Given the description of an element on the screen output the (x, y) to click on. 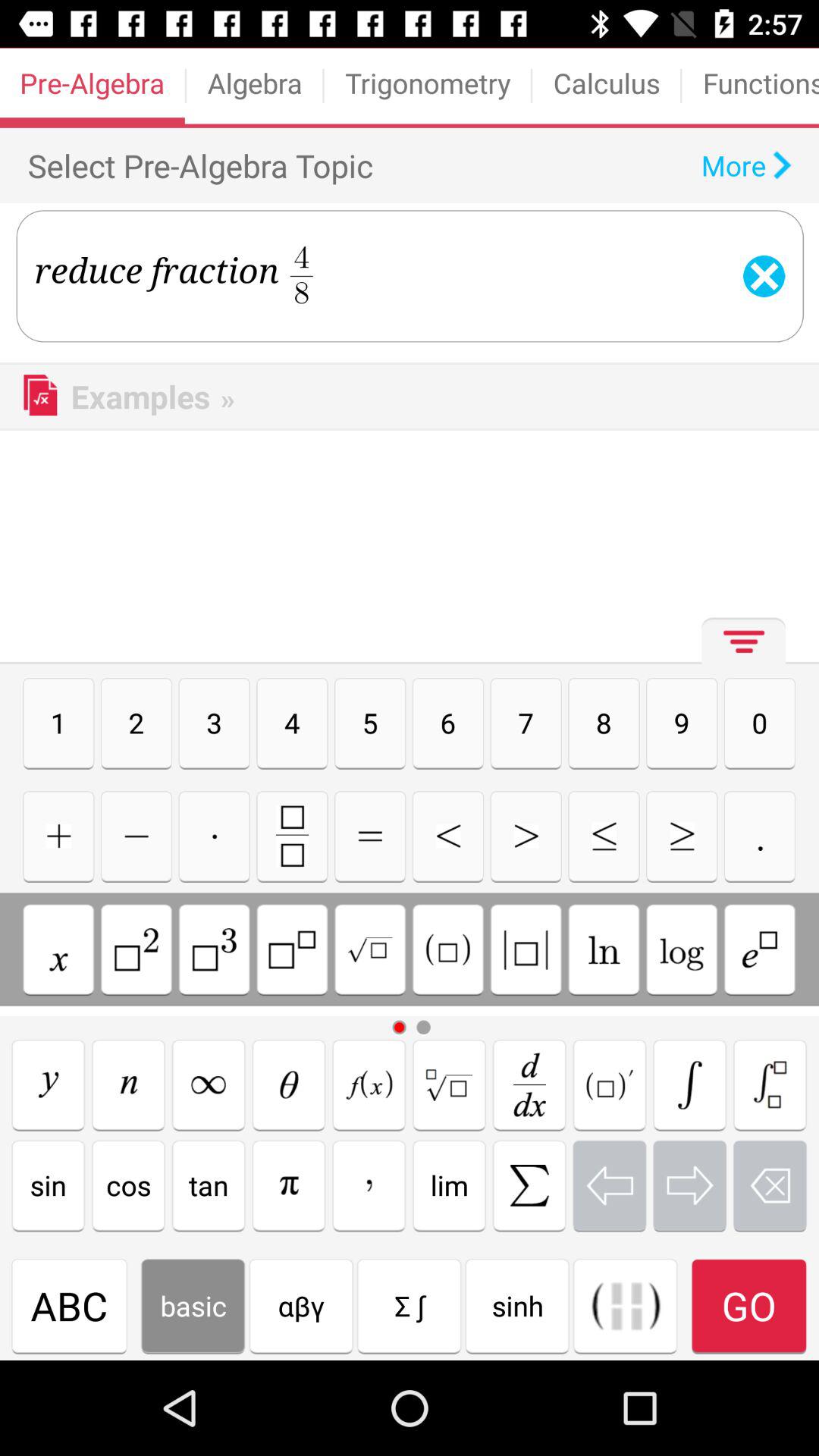
typing button (603, 949)
